Given the description of an element on the screen output the (x, y) to click on. 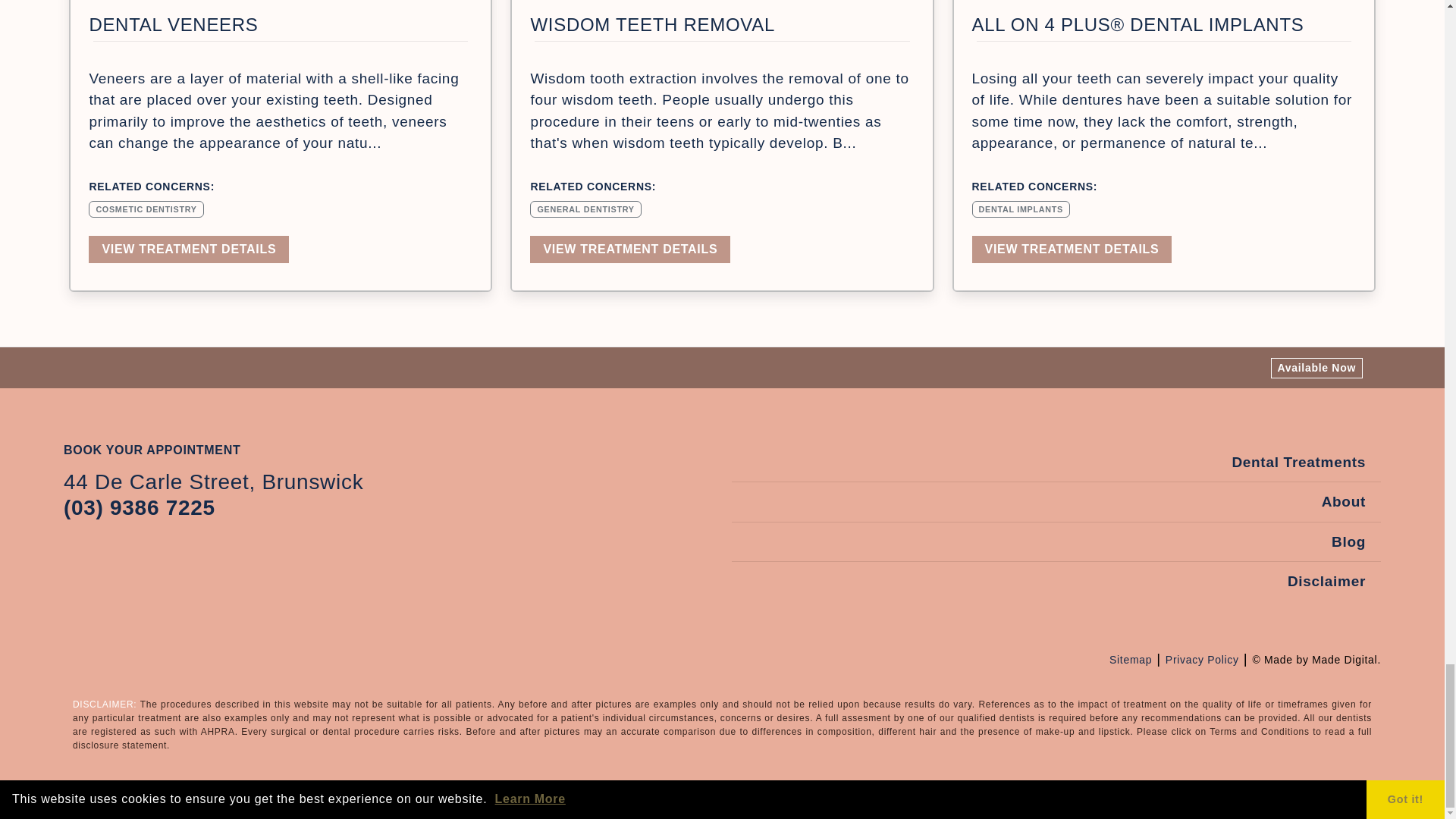
VIEW TREATMENT DETAILS (629, 248)
VIEW TREATMENT DETAILS (188, 248)
COSMETIC DENTISTRY (145, 207)
GENERAL DENTISTRY (584, 207)
